Given the description of an element on the screen output the (x, y) to click on. 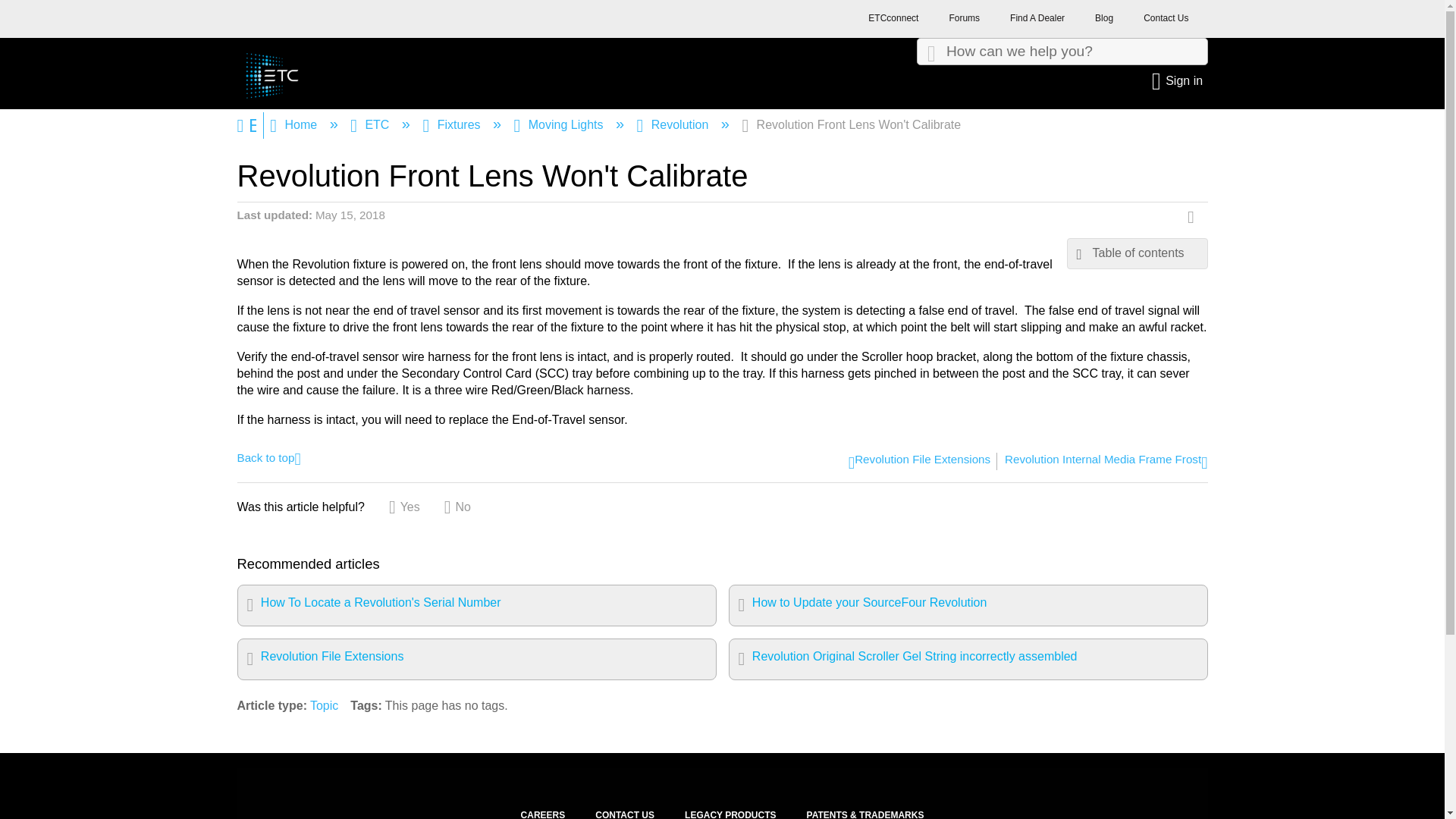
Revolution File Extensions (919, 461)
Forums (963, 21)
Find A Dealer (1037, 21)
How to Update your SourceFour Revolution (968, 605)
Blog (1104, 21)
Yes (404, 507)
Sign in (1179, 80)
ETC (371, 124)
Home (294, 124)
